Given the description of an element on the screen output the (x, y) to click on. 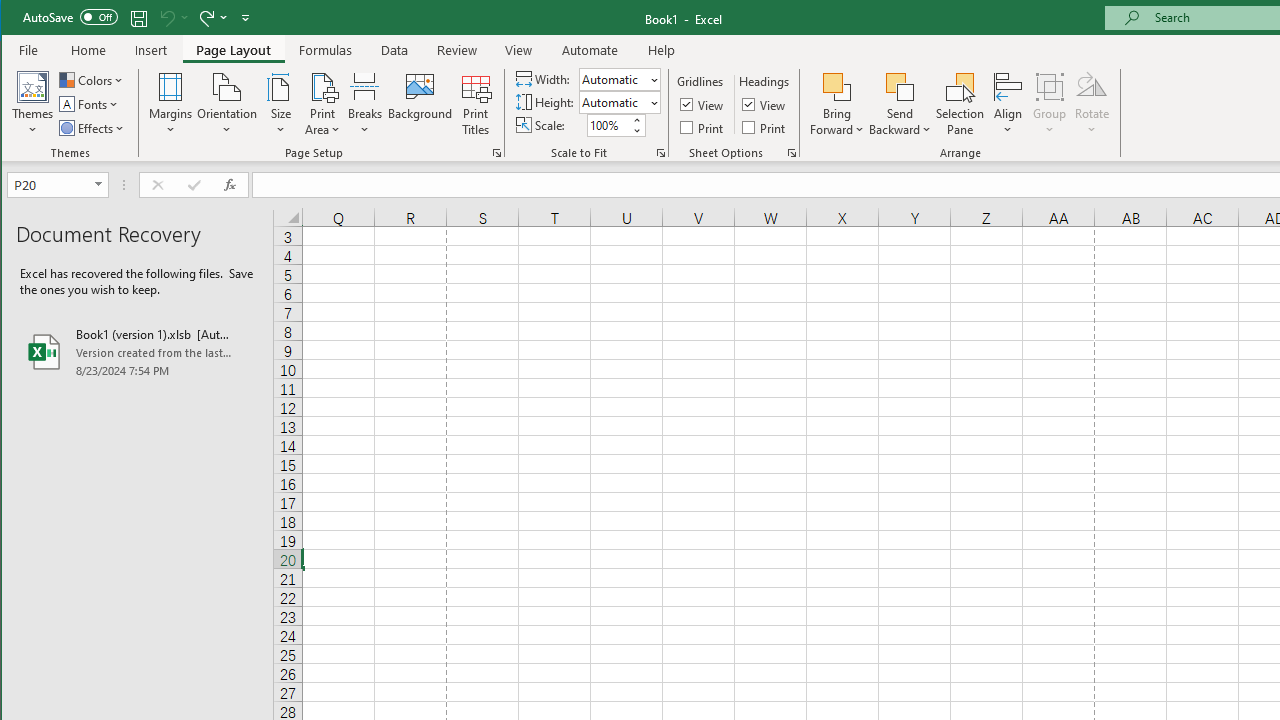
Height (619, 101)
Send Backward (900, 86)
Send Backward (900, 104)
Height (612, 102)
Width (612, 79)
Themes (33, 104)
Size (280, 104)
Background... (420, 104)
Page Setup (660, 152)
